Given the description of an element on the screen output the (x, y) to click on. 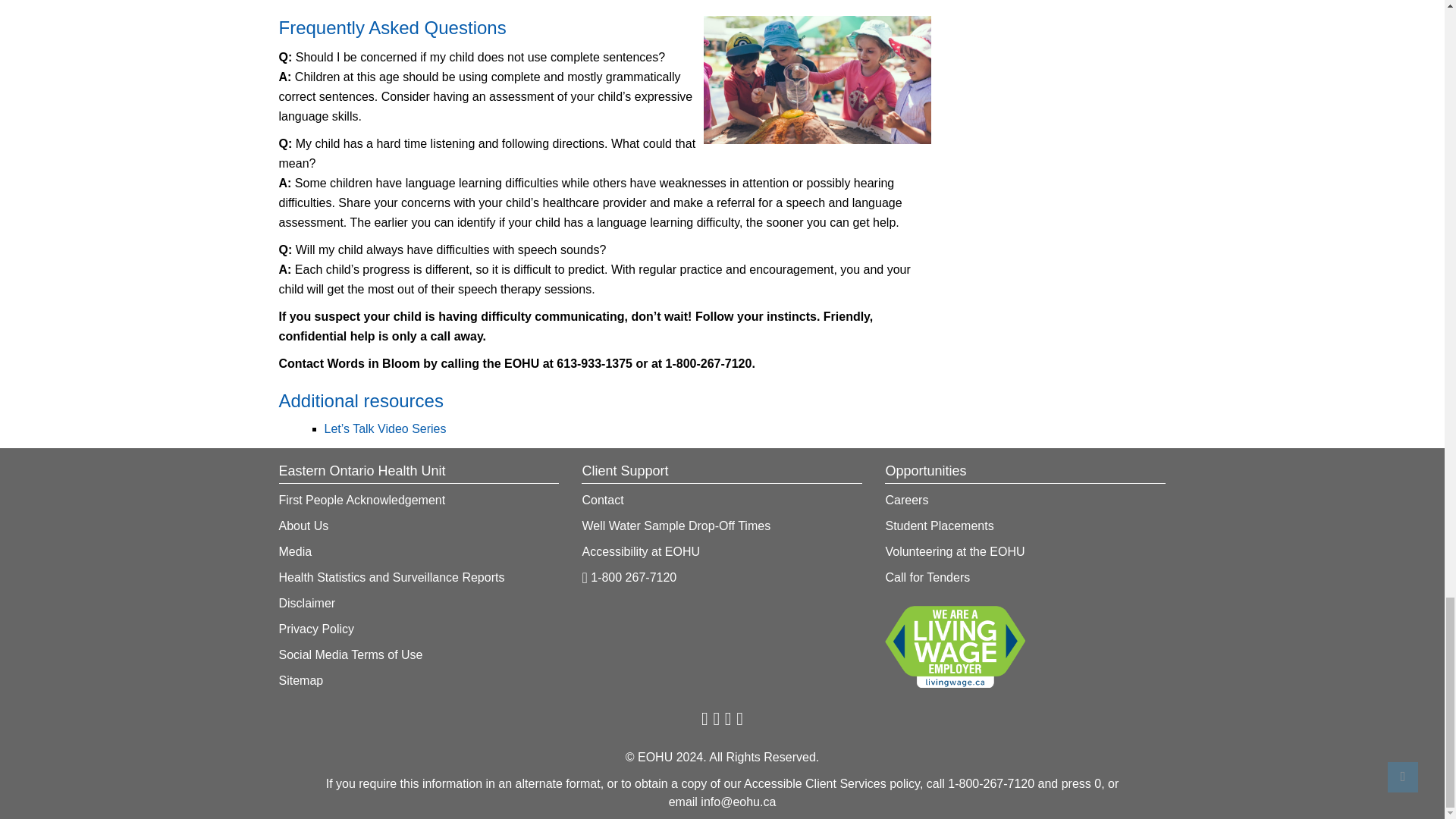
About Us (640, 551)
About Us (307, 603)
About Us (628, 576)
About Us (938, 525)
About Us (304, 525)
About Us (906, 499)
About Us (296, 551)
About Us (675, 525)
About Us (317, 628)
About Us (362, 499)
